Given the description of an element on the screen output the (x, y) to click on. 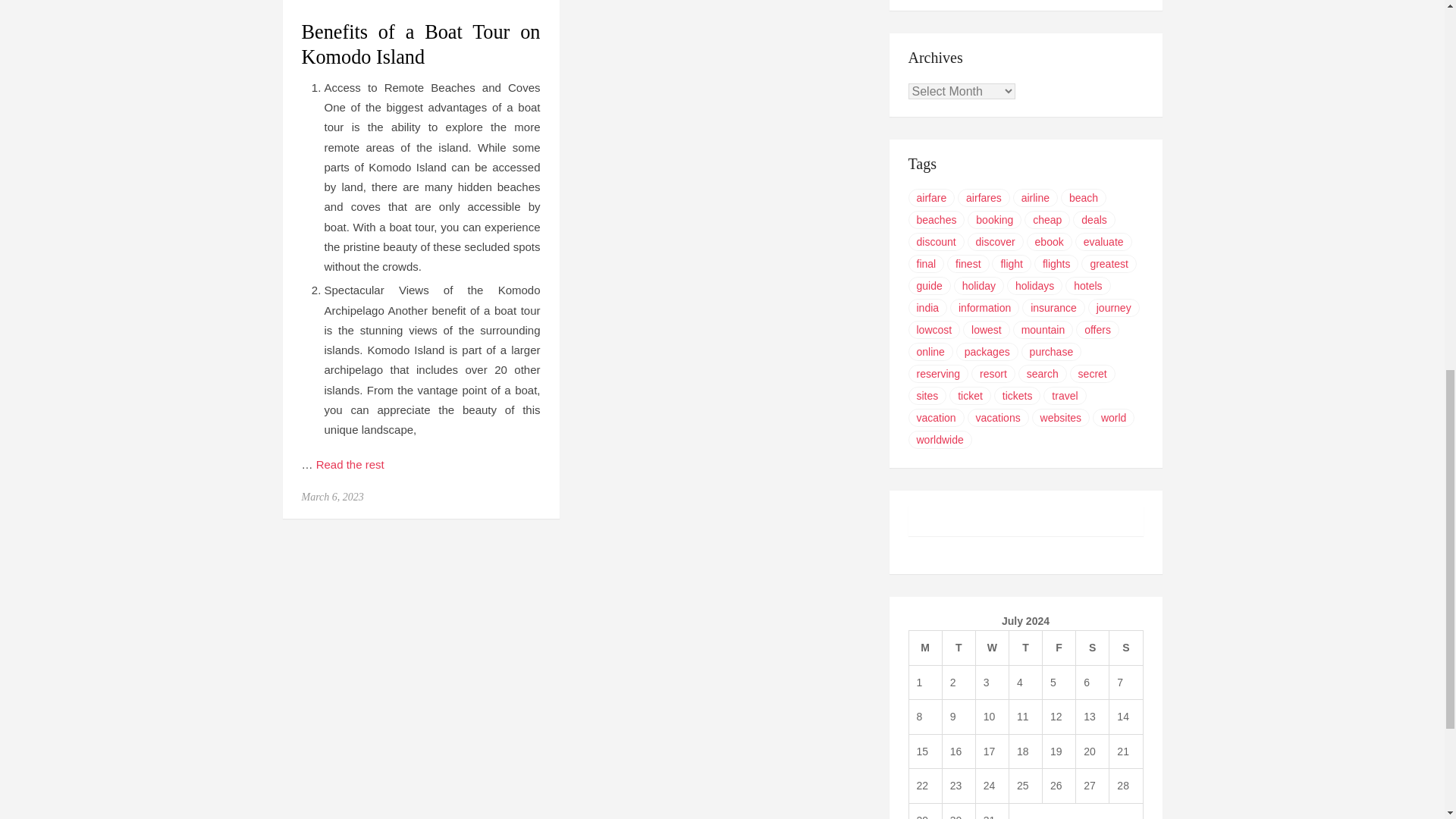
Saturday (1092, 647)
Friday (1058, 647)
Sunday (1125, 647)
Thursday (1025, 647)
Wednesday (992, 647)
Monday (925, 647)
Tuesday (958, 647)
